Given the description of an element on the screen output the (x, y) to click on. 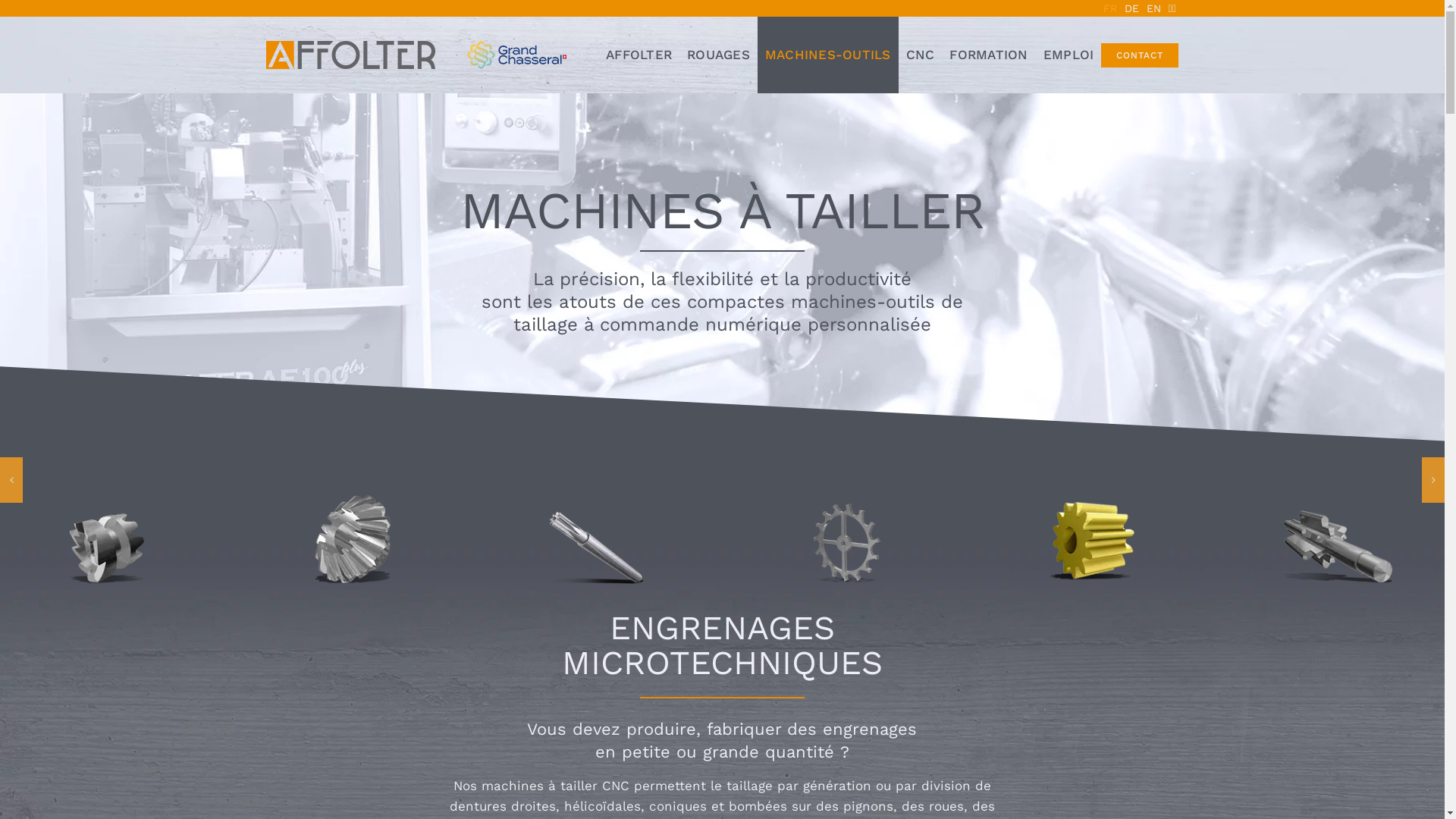
DE Element type: text (1131, 8)
FR Element type: text (1109, 8)
EMPLOI Element type: text (1068, 54)
engrenages Element type: text (869, 728)
ROUAGES Element type: text (718, 54)
MACHINES-OUTILS Element type: text (827, 54)
FORMATION Element type: text (988, 54)
CNC Element type: text (920, 54)
CONTACT Element type: text (1139, 55)
AFFOLTER Element type: text (638, 54)
EN Element type: text (1153, 8)
